Given the description of an element on the screen output the (x, y) to click on. 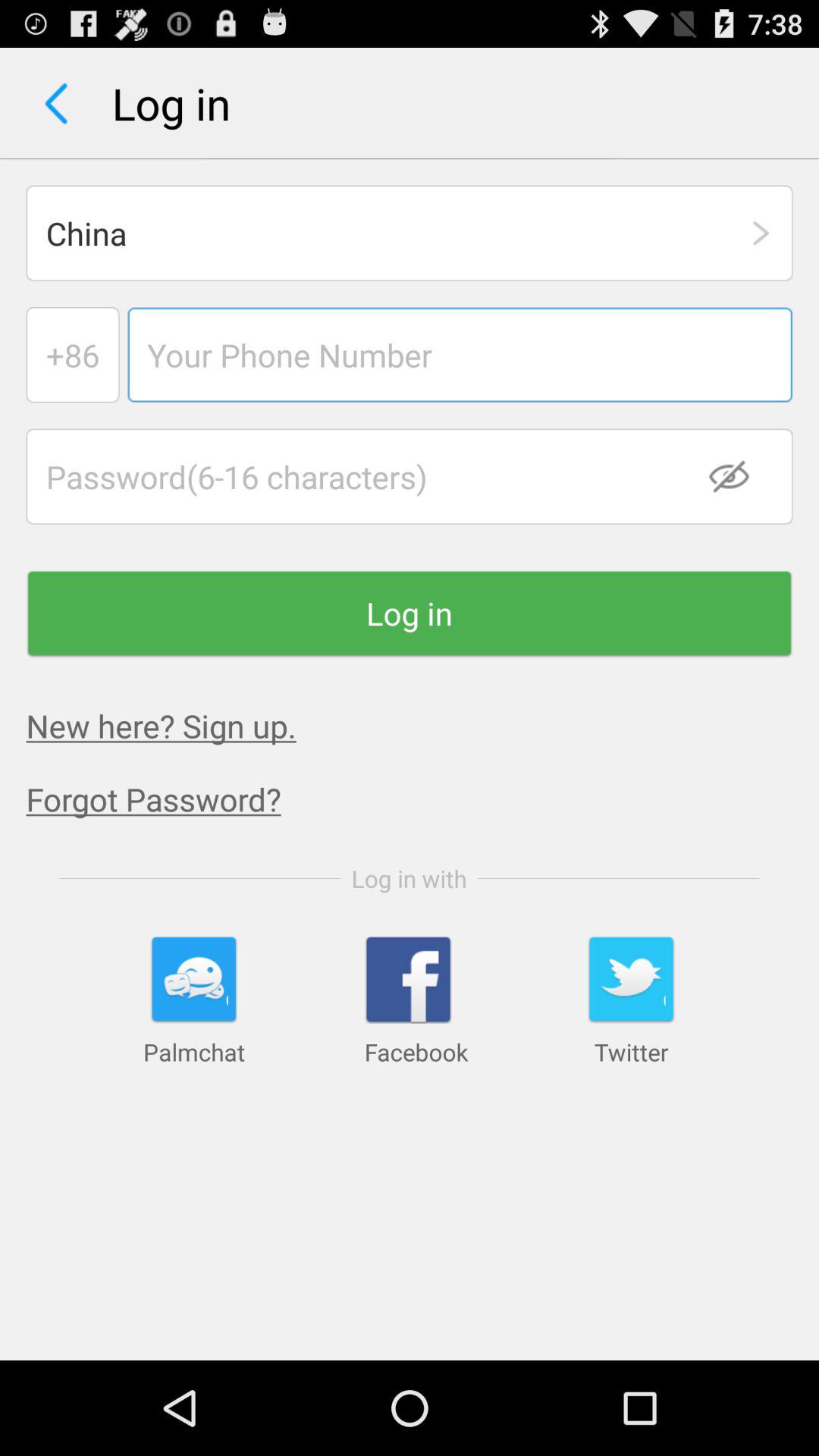
open forgot password? (422, 798)
